Given the description of an element on the screen output the (x, y) to click on. 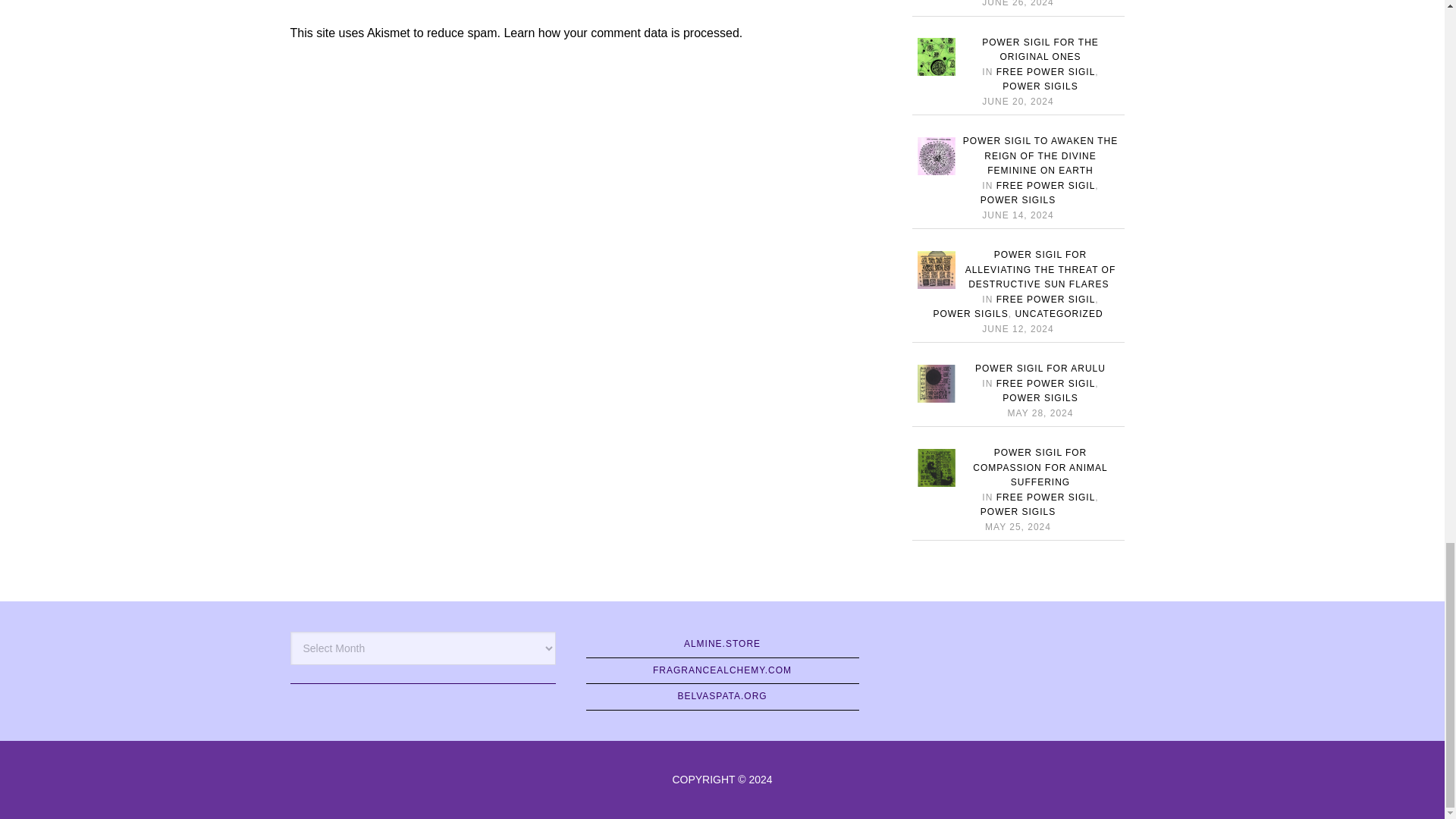
FREE POWER SIGIL (1045, 71)
Learn how your comment data is processed (620, 32)
POWER SIGIL FOR THE ORIGINAL ONES (1040, 49)
POWER SIGILS (1040, 86)
